Given the description of an element on the screen output the (x, y) to click on. 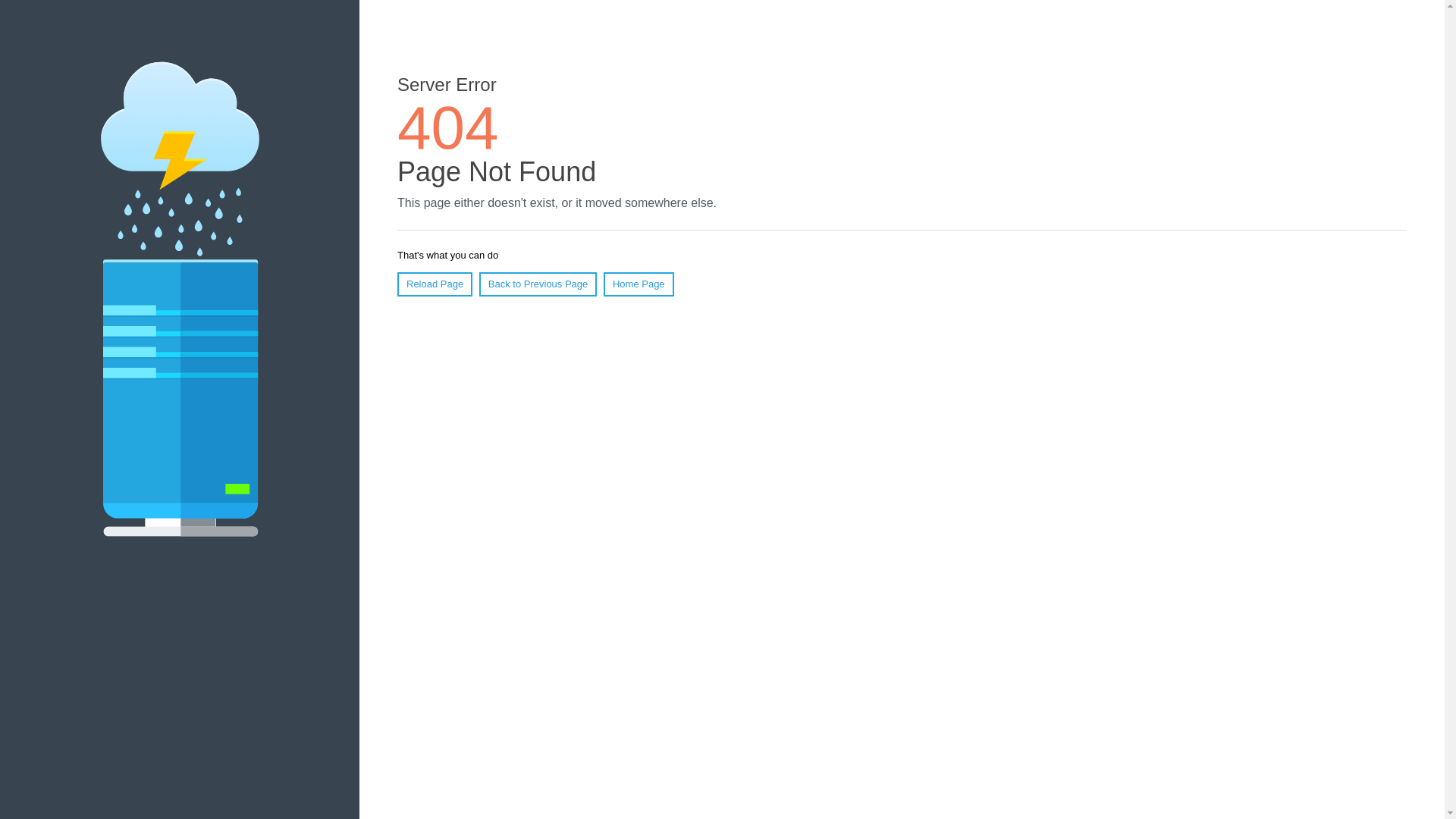
Reload Page Element type: text (434, 284)
Home Page Element type: text (638, 284)
Back to Previous Page Element type: text (538, 284)
